Given the description of an element on the screen output the (x, y) to click on. 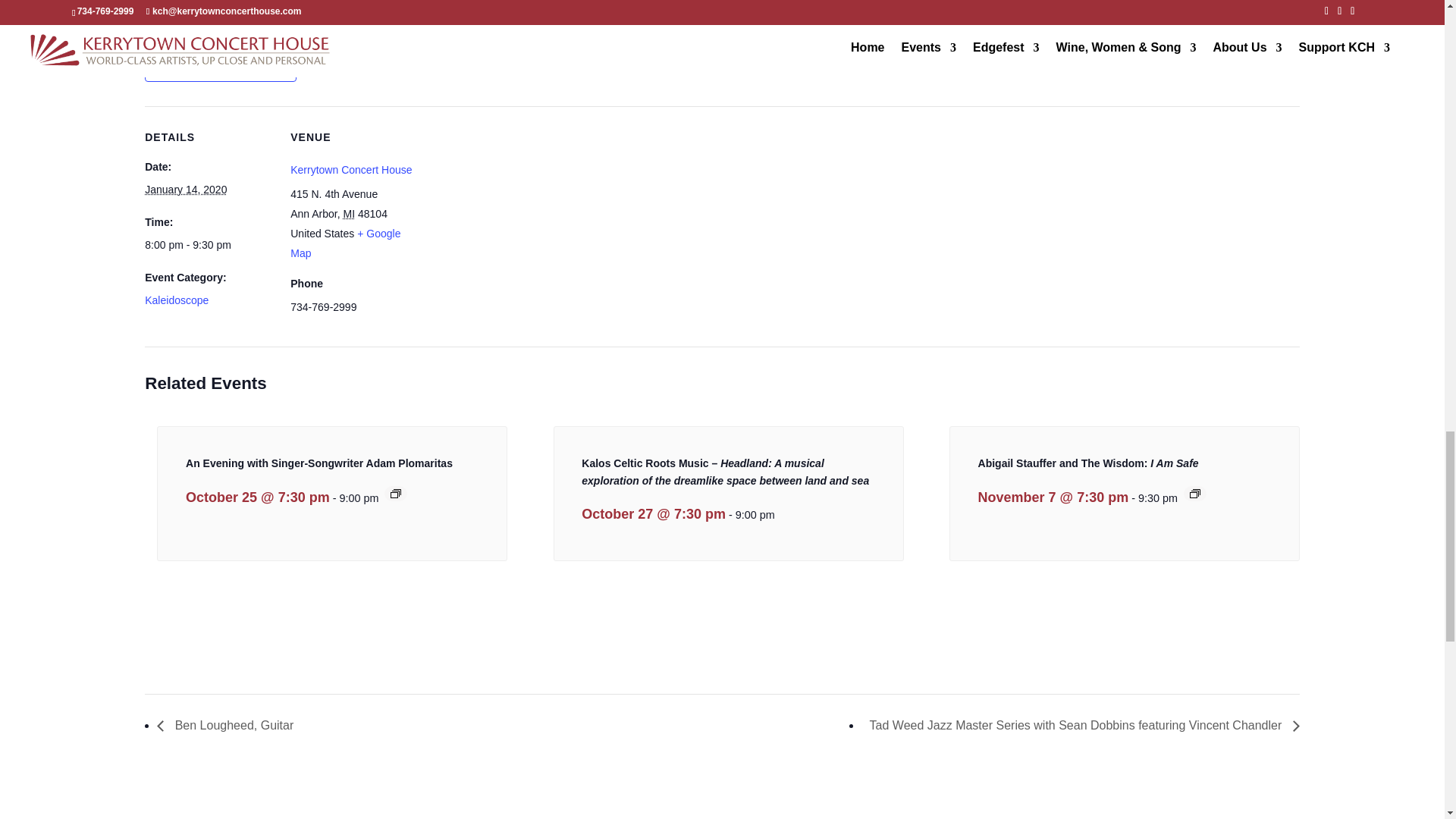
Michigan (349, 214)
Event Series (1194, 492)
2020-01-14 (185, 189)
Click to view a Google Map (344, 243)
2020-01-14 (208, 244)
Event Series (395, 492)
